Given the description of an element on the screen output the (x, y) to click on. 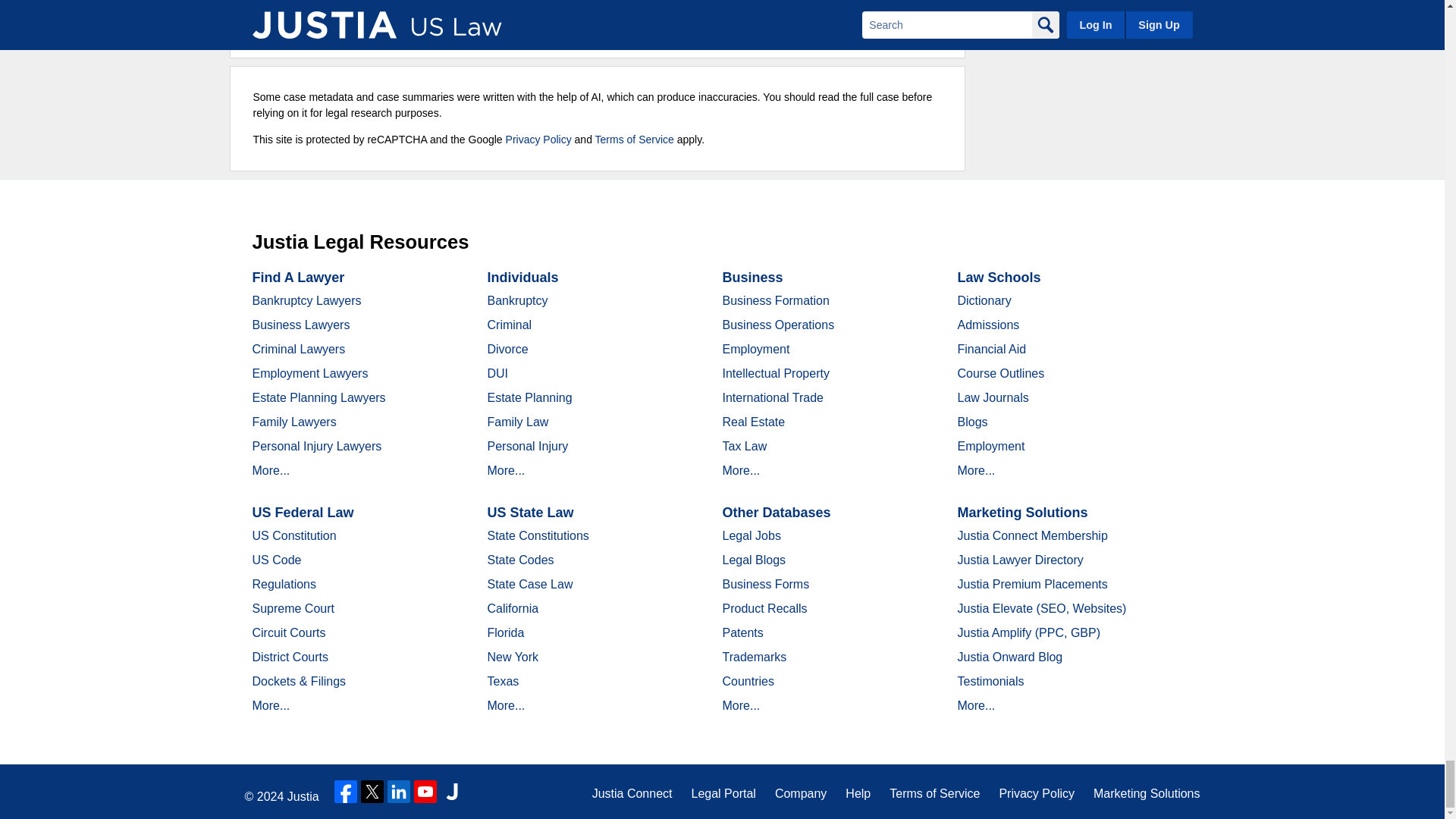
LinkedIn (398, 791)
Twitter (372, 791)
Facebook (345, 791)
